Given the description of an element on the screen output the (x, y) to click on. 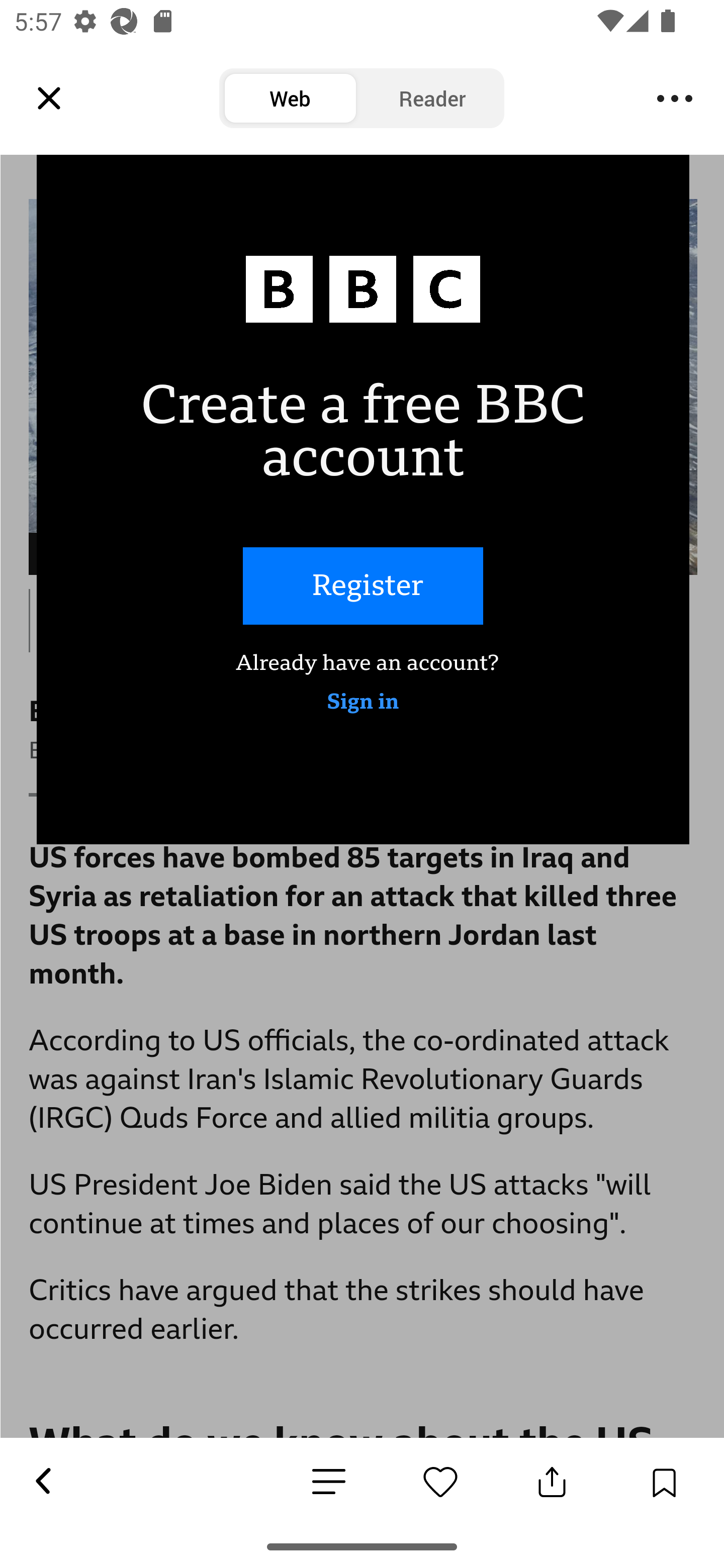
Share (67, 90)
Israel-Gaza war (252, 90)
Reader (432, 98)
Menu (674, 98)
Register (362, 586)
Sign in (362, 703)
Back Button (42, 1481)
News Detail Emotion (440, 1481)
Share Button (551, 1481)
Save Button (663, 1481)
News Detail Emotion (329, 1482)
